Given the description of an element on the screen output the (x, y) to click on. 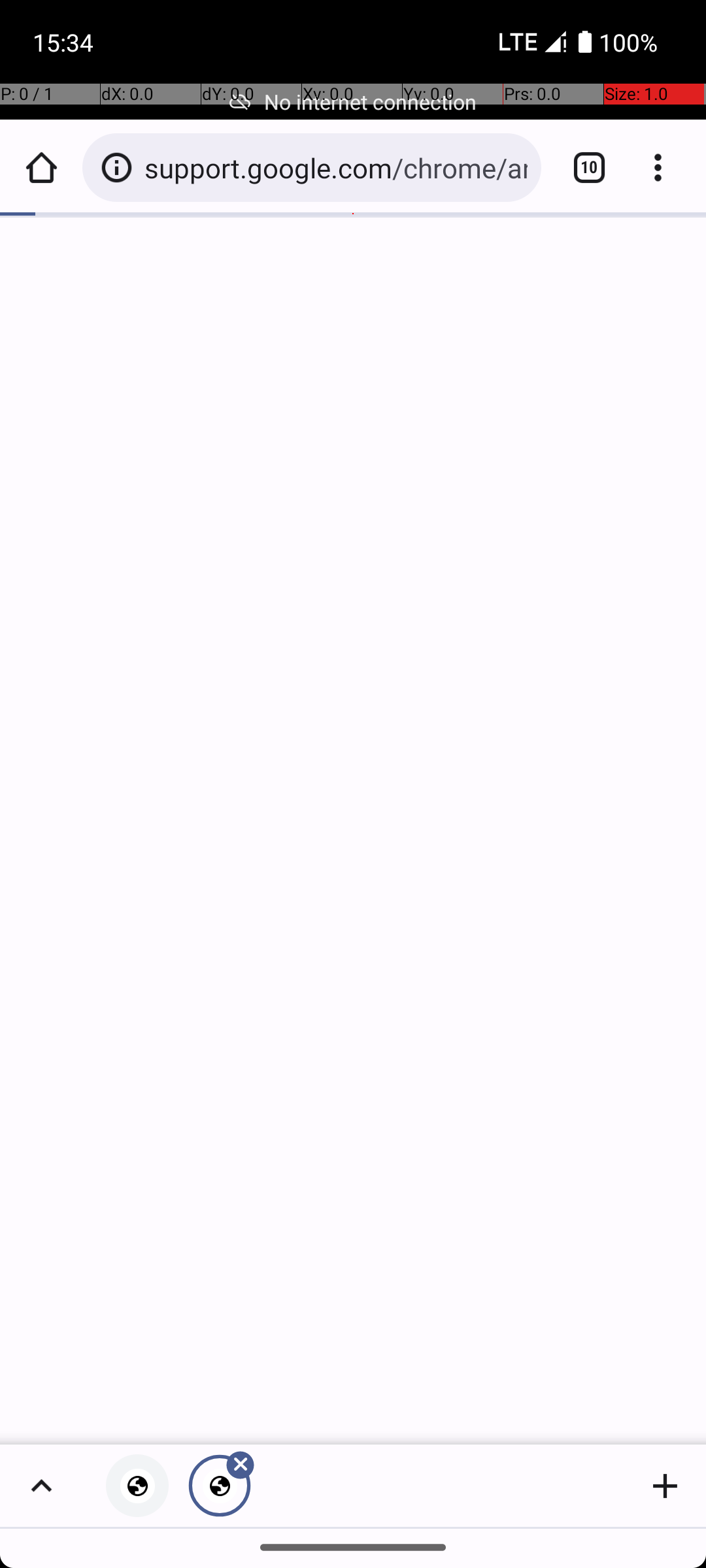
Show group's tabs in fullscreen grid Element type: android.widget.ImageView (41, 1485)
Add new tab to group Element type: android.widget.ImageView (664, 1485)
support.google.com/chrome/answer/6098869#-201 Element type: android.widget.EditText (335, 167)
Privacy error, tab Element type: android.widget.ImageButton (137, 1485)
Close  tab Element type: android.widget.ImageButton (219, 1485)
